Given the description of an element on the screen output the (x, y) to click on. 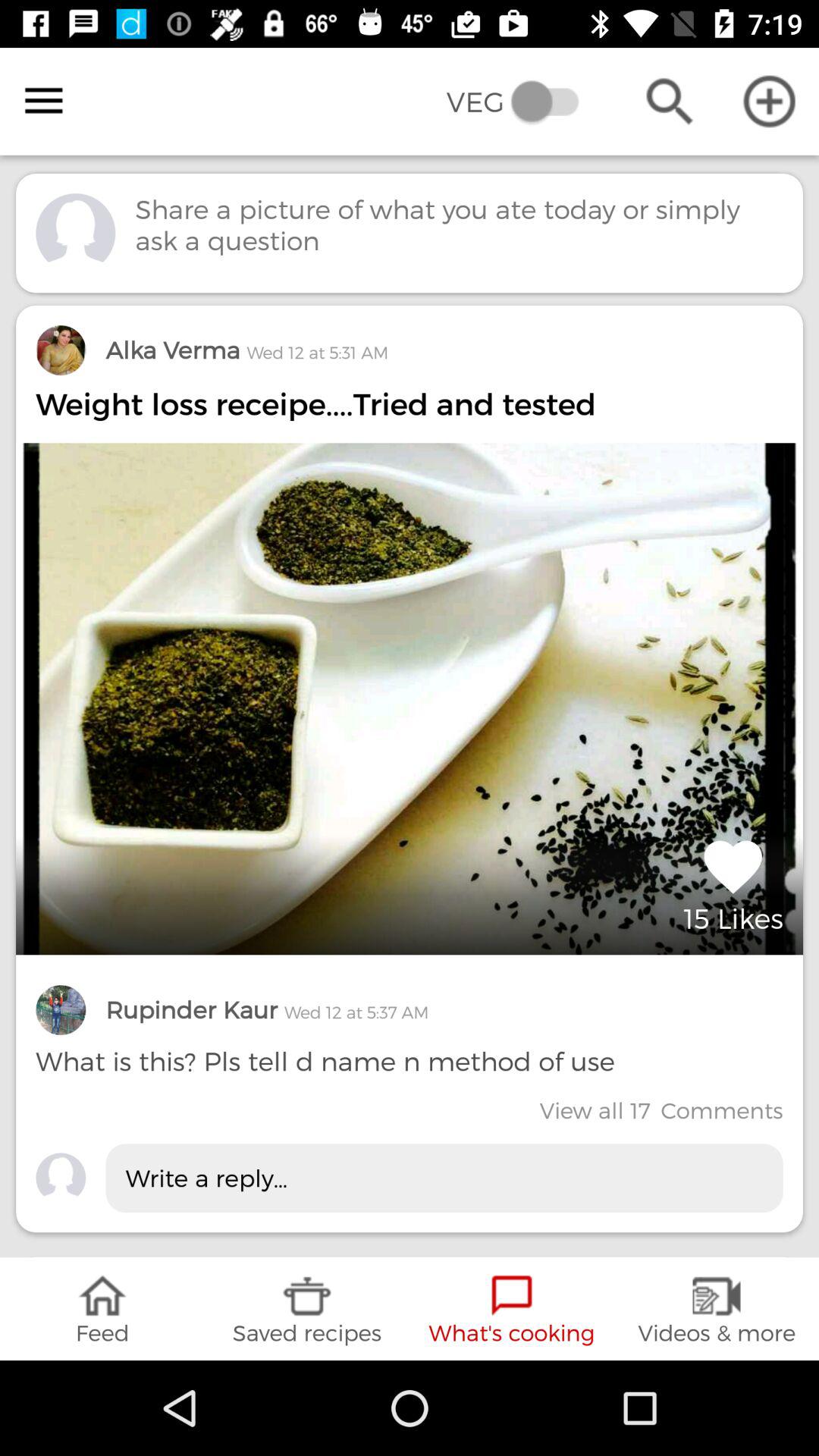
launch what's cooking (511, 1308)
